Given the description of an element on the screen output the (x, y) to click on. 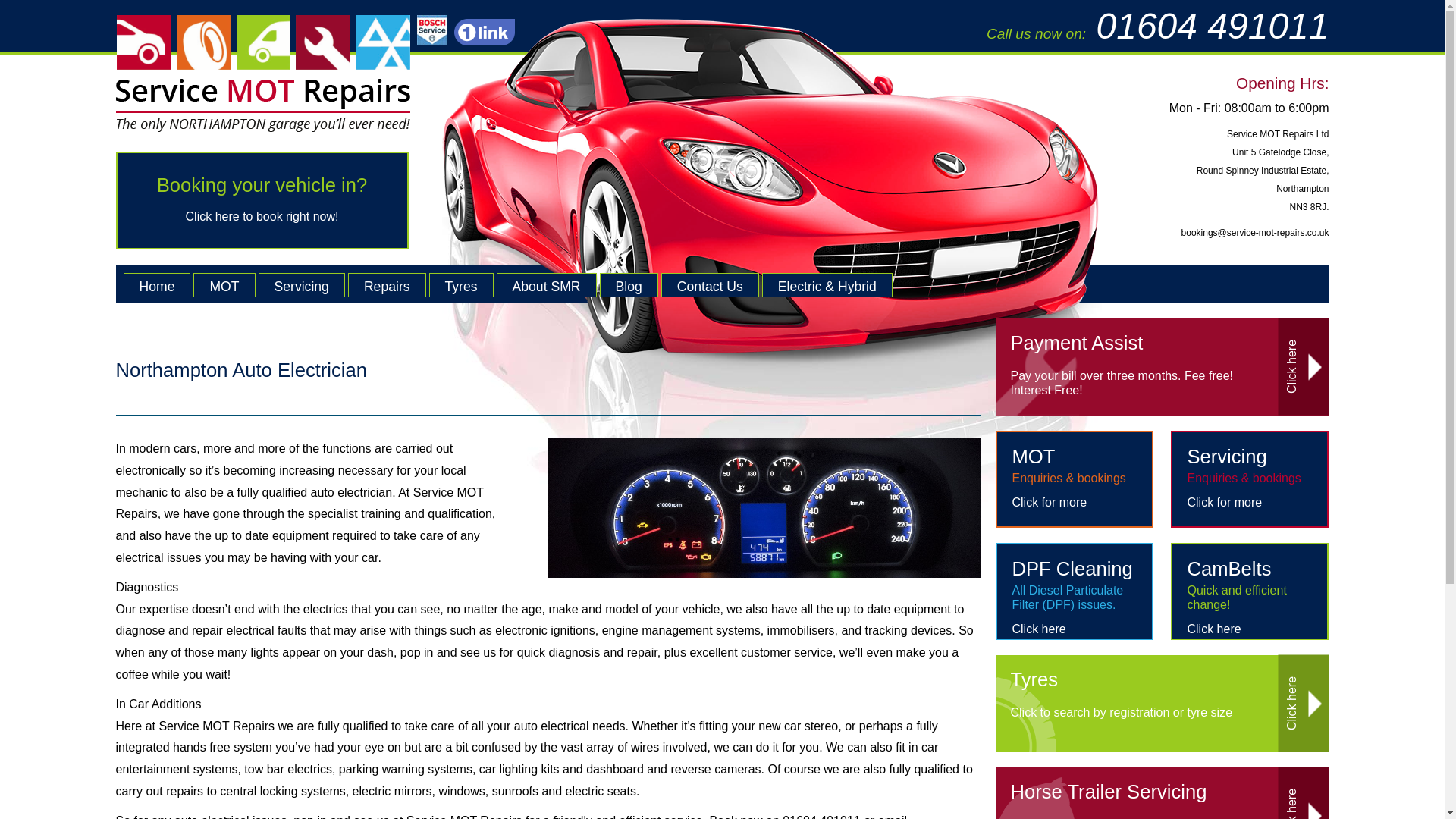
01604 491011 (1212, 25)
Servicing (302, 284)
Home (261, 200)
Repairs (156, 284)
MOT (386, 284)
